Given the description of an element on the screen output the (x, y) to click on. 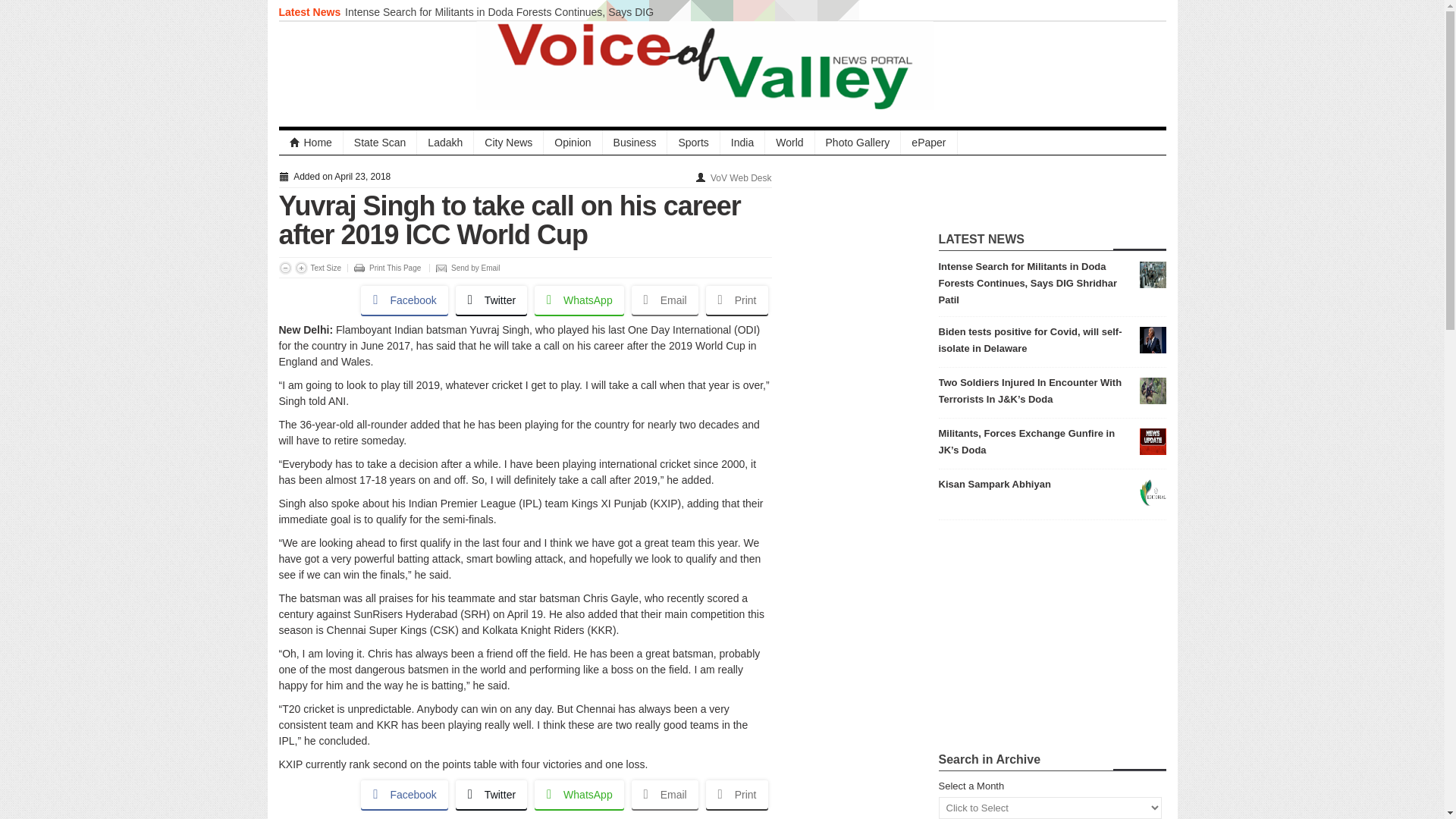
Increase Font Size (300, 267)
State Scan (380, 142)
WhatsApp (579, 299)
Ladakh (445, 142)
Facebook (403, 299)
Sports (692, 142)
Print (737, 299)
Facebook (403, 794)
Send by Email (464, 267)
World (789, 142)
Email (664, 299)
ePaper (928, 142)
Business (635, 142)
Daily Newspaper from Kashmir (311, 142)
